Given the description of an element on the screen output the (x, y) to click on. 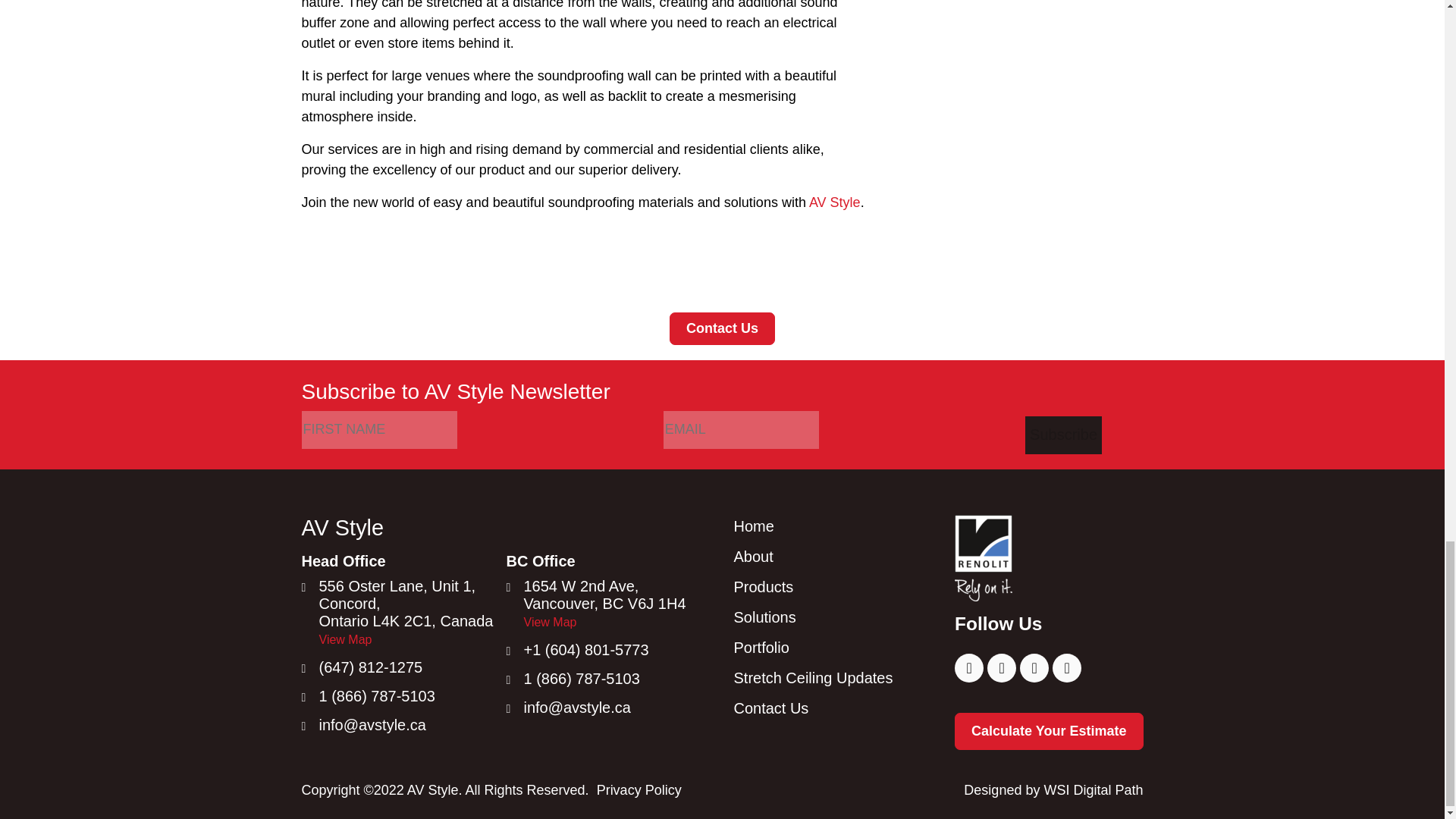
Subscribe (1063, 435)
